Given the description of an element on the screen output the (x, y) to click on. 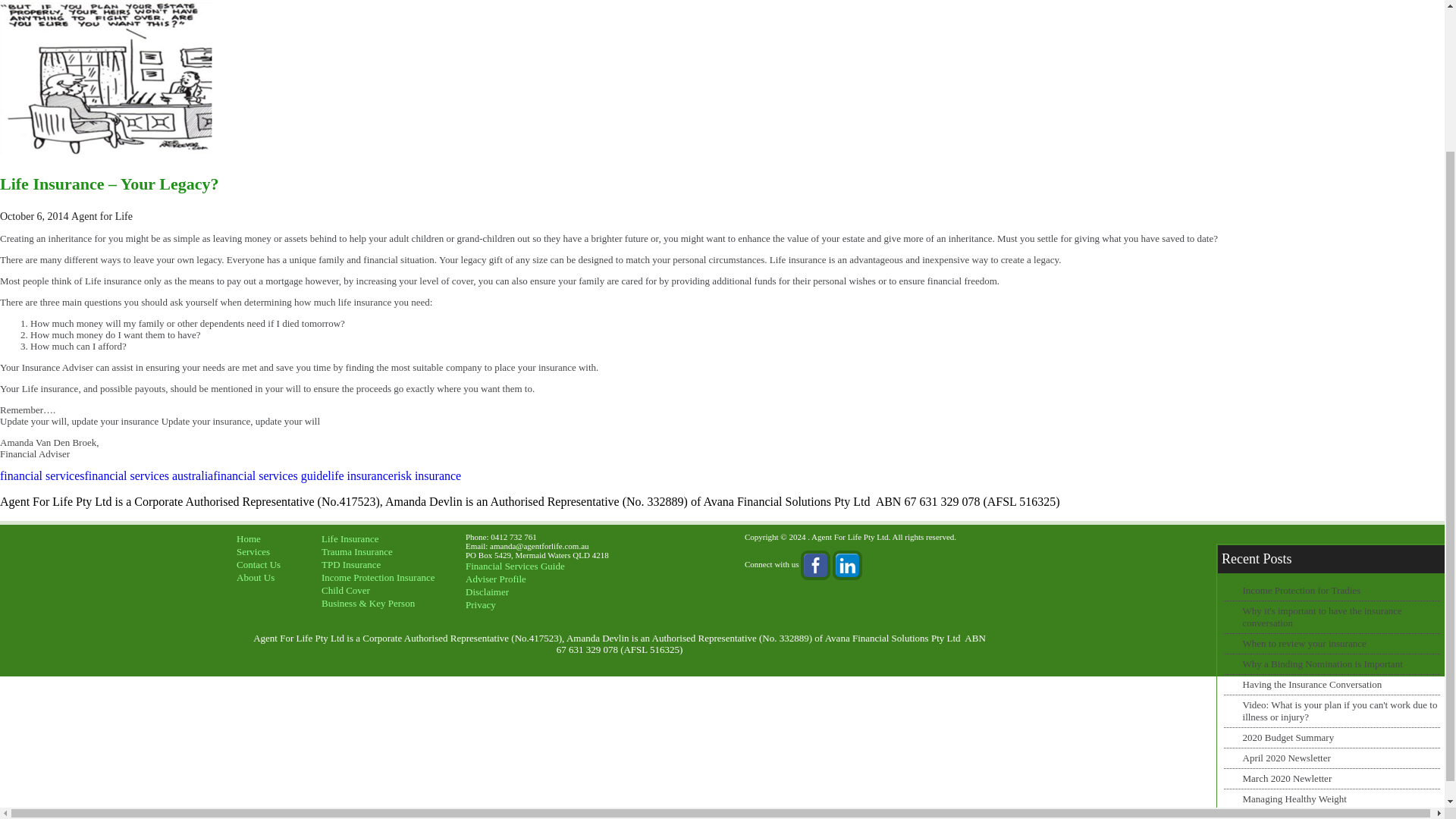
Agent for Life (101, 215)
financial services guide (269, 475)
Look March 2020 Newletter (1287, 778)
Look Why it's important to have the insurance conversation (1322, 616)
Look Having the Insurance Conversation (1312, 684)
Look April 2020 Newsletter (1286, 757)
When to review your insurance (1305, 643)
Income Protection for Tradies (1302, 590)
Look Income Protection for Tradies (1302, 590)
Why a Binding Nomination is Important (1323, 663)
Look 2020 Budget Summary (1289, 737)
financial services (42, 475)
Look Why a Binding Nomination is Important (1323, 663)
Look When to review your insurance (1305, 643)
